Given the description of an element on the screen output the (x, y) to click on. 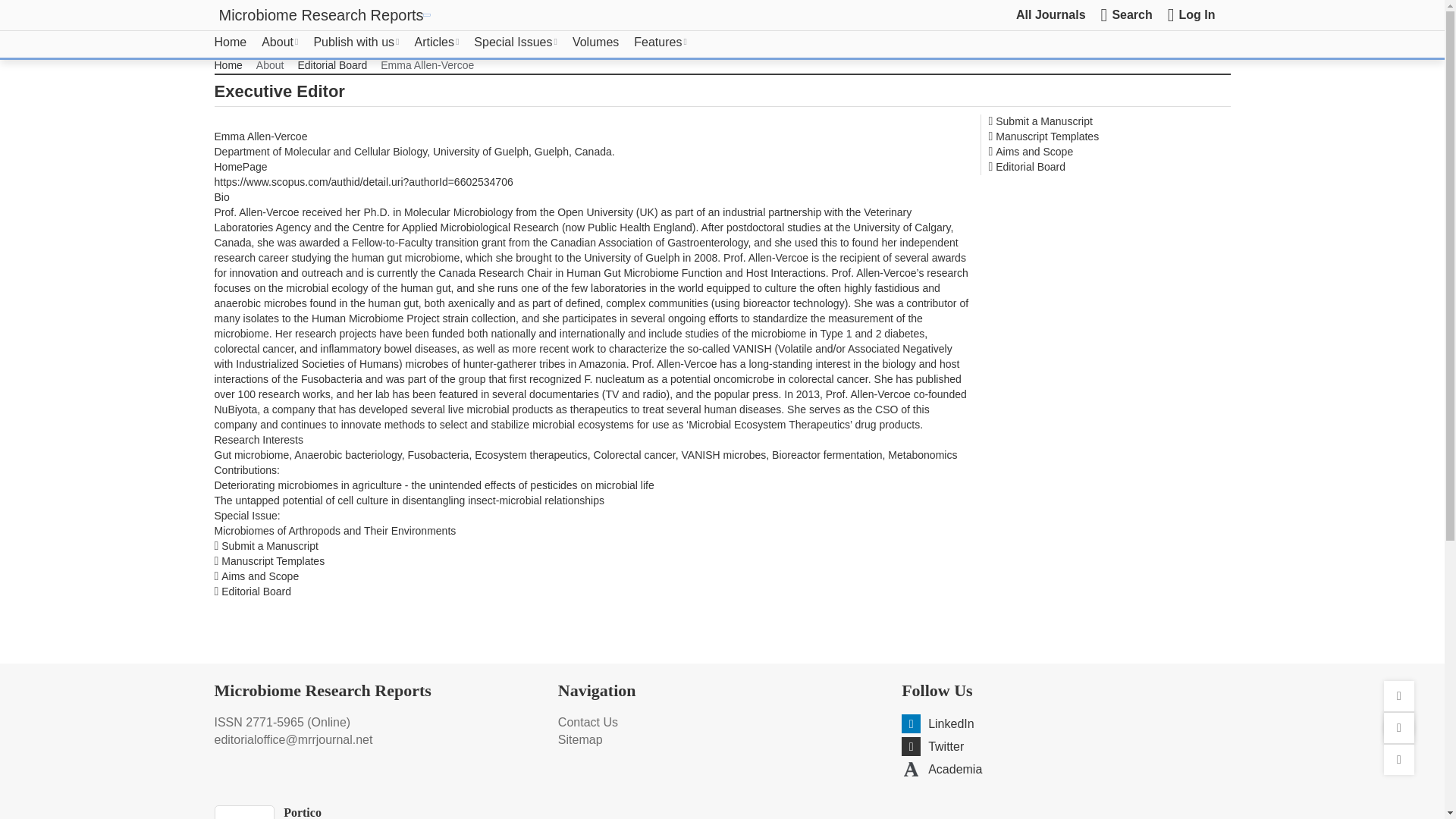
Volumes (595, 42)
Log In (1191, 14)
All Journals (1051, 14)
Home (229, 42)
Microbiome Research Reports (320, 15)
